Given the description of an element on the screen output the (x, y) to click on. 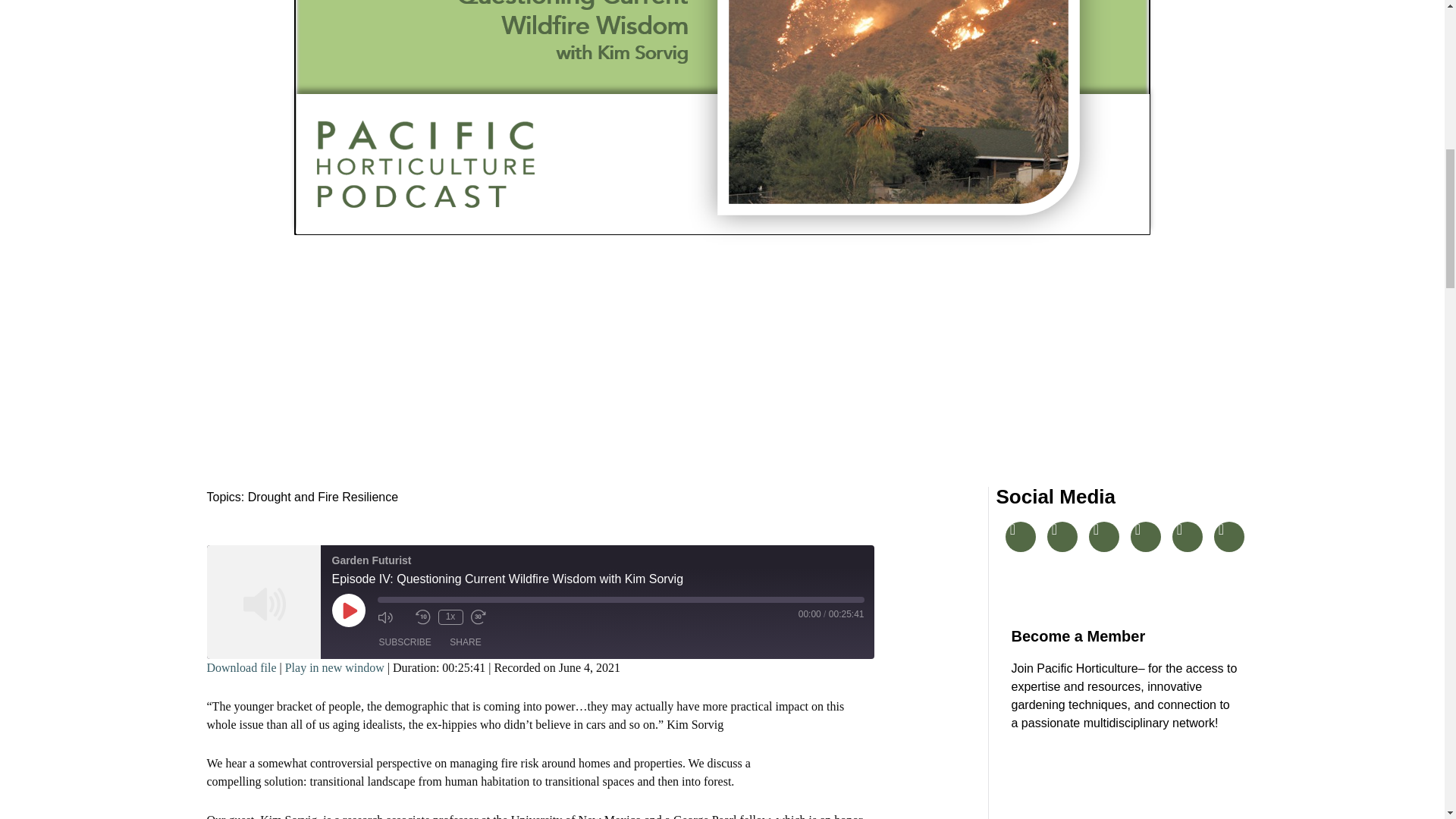
Subscribe (405, 642)
Play (348, 610)
Playback Speed (450, 616)
Fast Forward 30 seconds (485, 616)
Seek (620, 599)
Rewind 10 seconds (422, 616)
Share (464, 642)
Garden Futurist (263, 601)
